Given the description of an element on the screen output the (x, y) to click on. 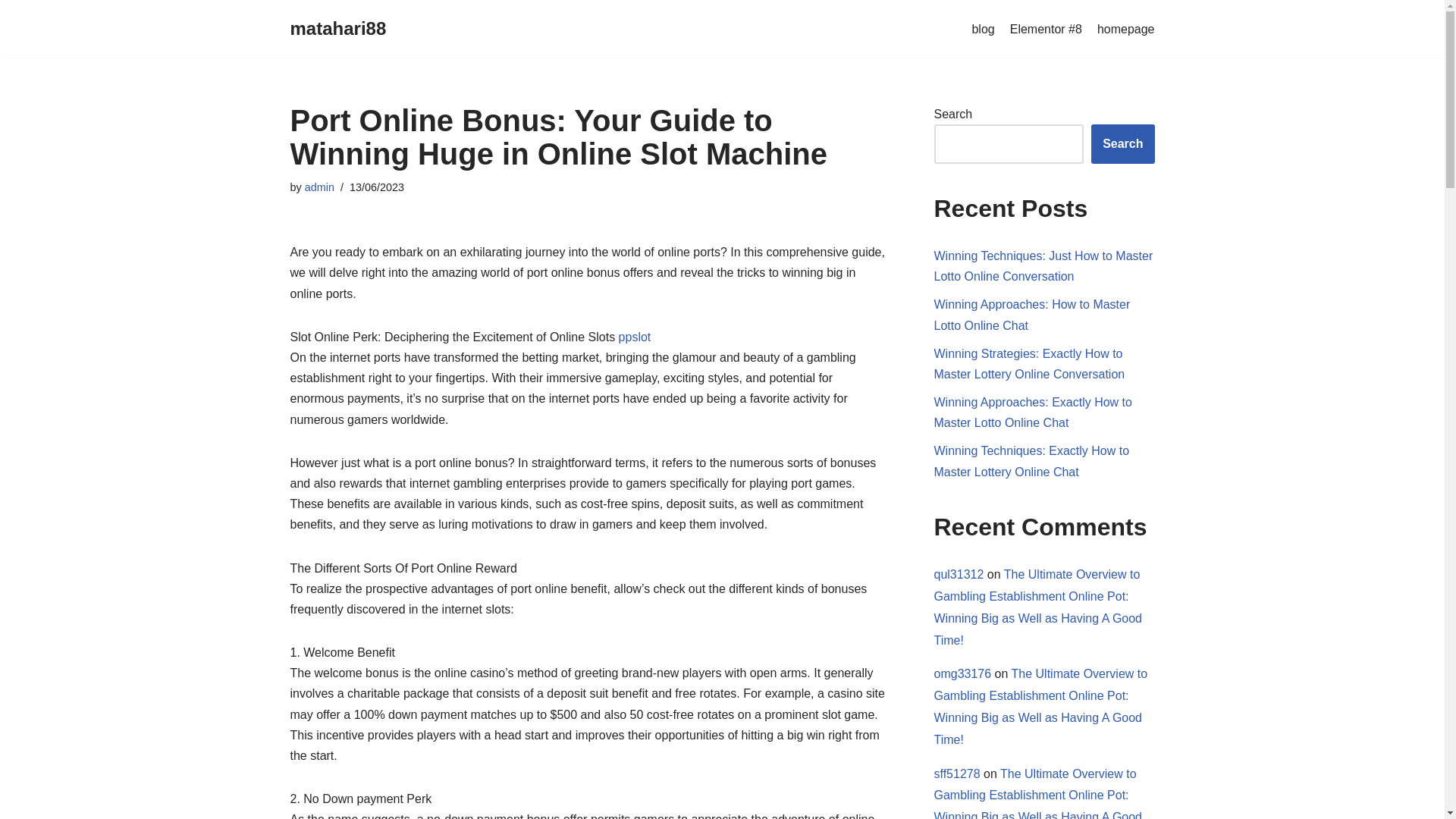
qul31312 (959, 574)
Winning Approaches: Exactly How to Master Lotto Online Chat (1033, 412)
matahari88 (337, 29)
admin (319, 186)
Winning Approaches: How to Master Lotto Online Chat (1032, 314)
Posts by admin (319, 186)
homepage (1125, 29)
omg33176 (962, 673)
matahari88 (337, 29)
